Given the description of an element on the screen output the (x, y) to click on. 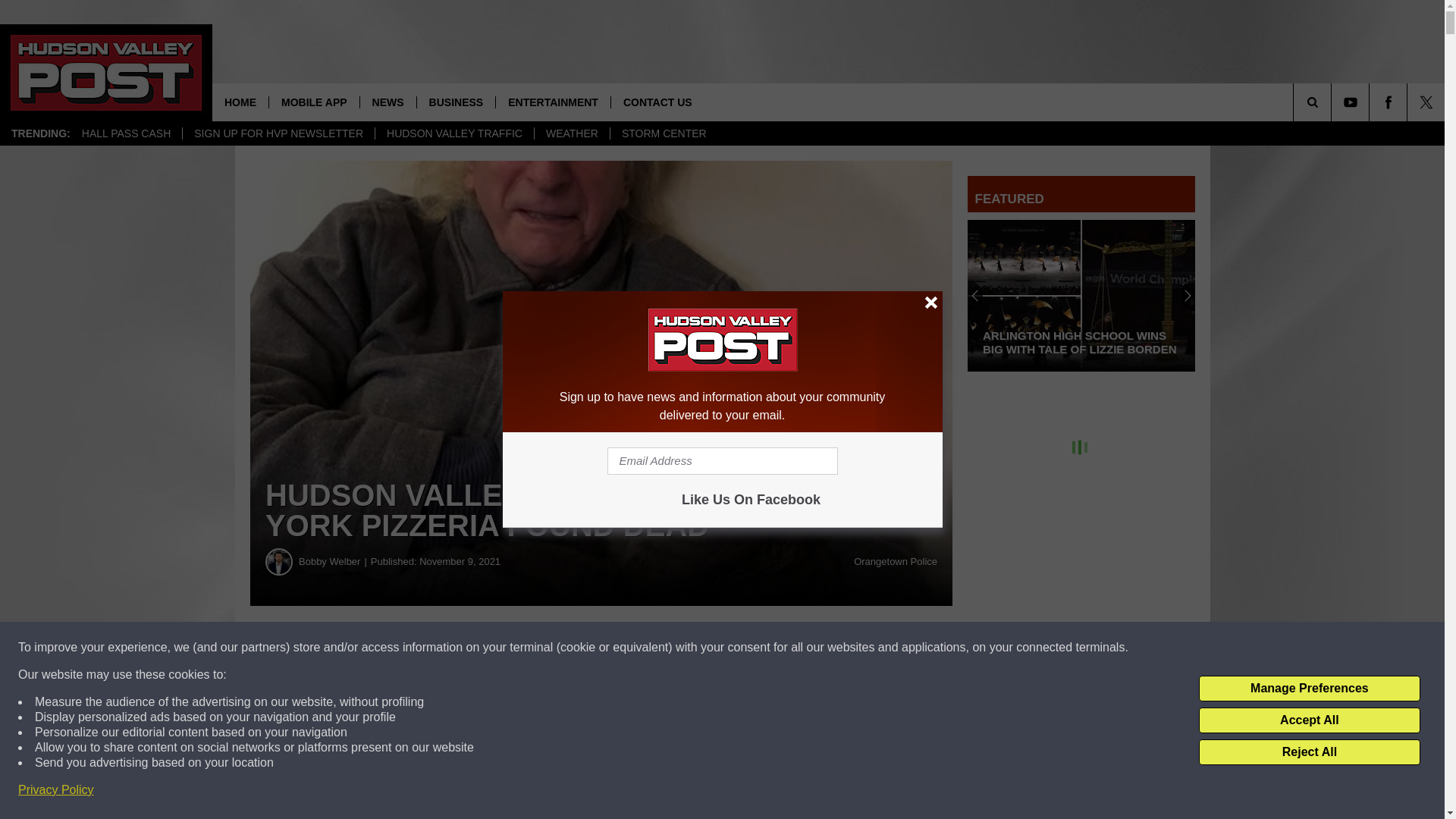
Email Address (722, 461)
STORM CENTER (663, 133)
SEARCH (1333, 102)
SEARCH (1333, 102)
Share on Facebook (460, 647)
MOBILE APP (313, 102)
Email Address (600, 783)
CONTACT US (657, 102)
Share on Twitter (741, 647)
BUSINESS (456, 102)
ENTERTAINMENT (552, 102)
NEWS (387, 102)
Manage Preferences (1309, 688)
Accept All (1309, 720)
HUDSON VALLEY TRAFFIC (454, 133)
